Given the description of an element on the screen output the (x, y) to click on. 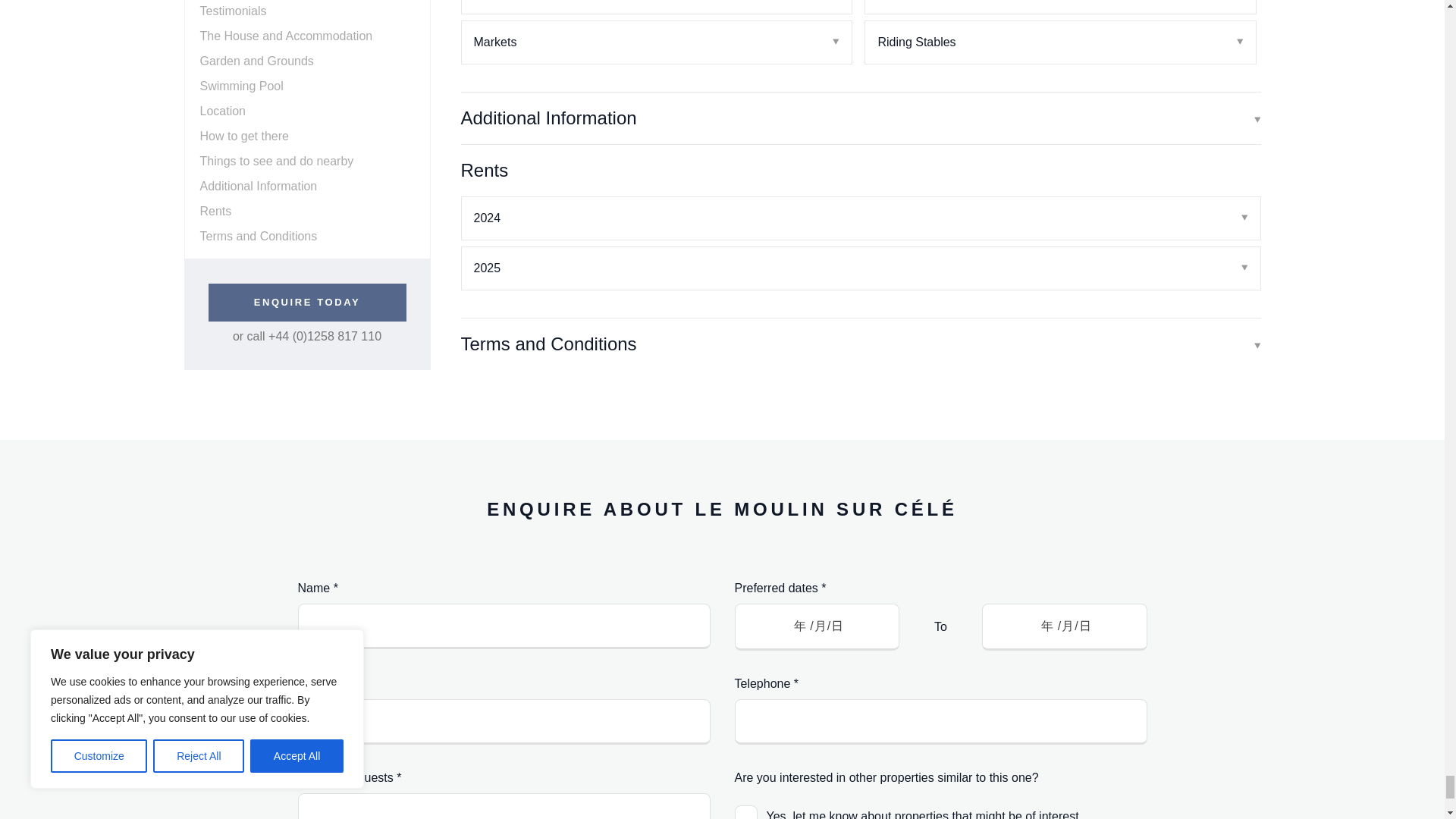
Yes, let me know about properties that might be of interest (745, 812)
